Given the description of an element on the screen output the (x, y) to click on. 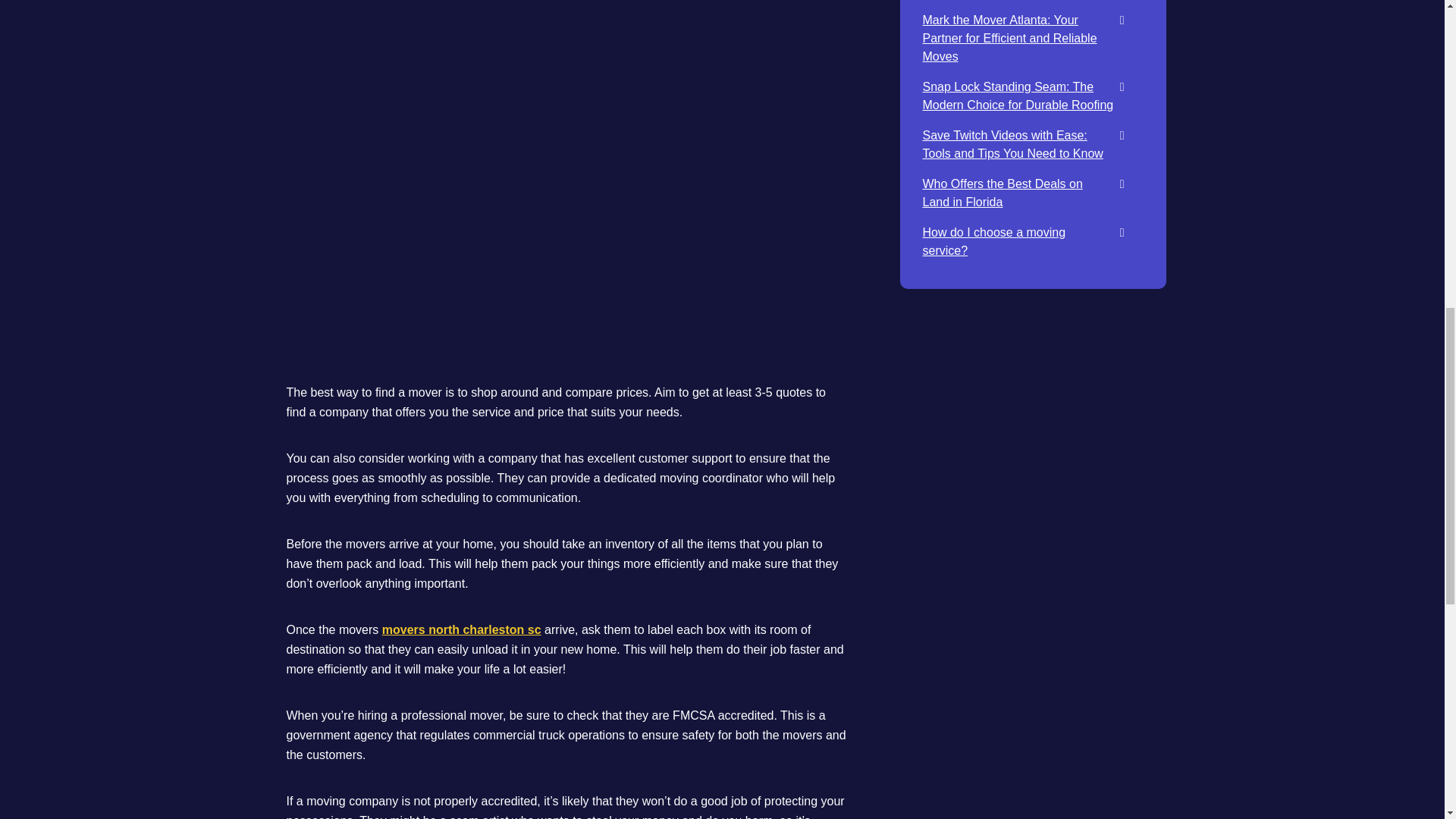
Who Offers the Best Deals on Land in Florida (1001, 192)
How do I choose a moving service? (993, 241)
movers north charleston sc (461, 629)
